Given the description of an element on the screen output the (x, y) to click on. 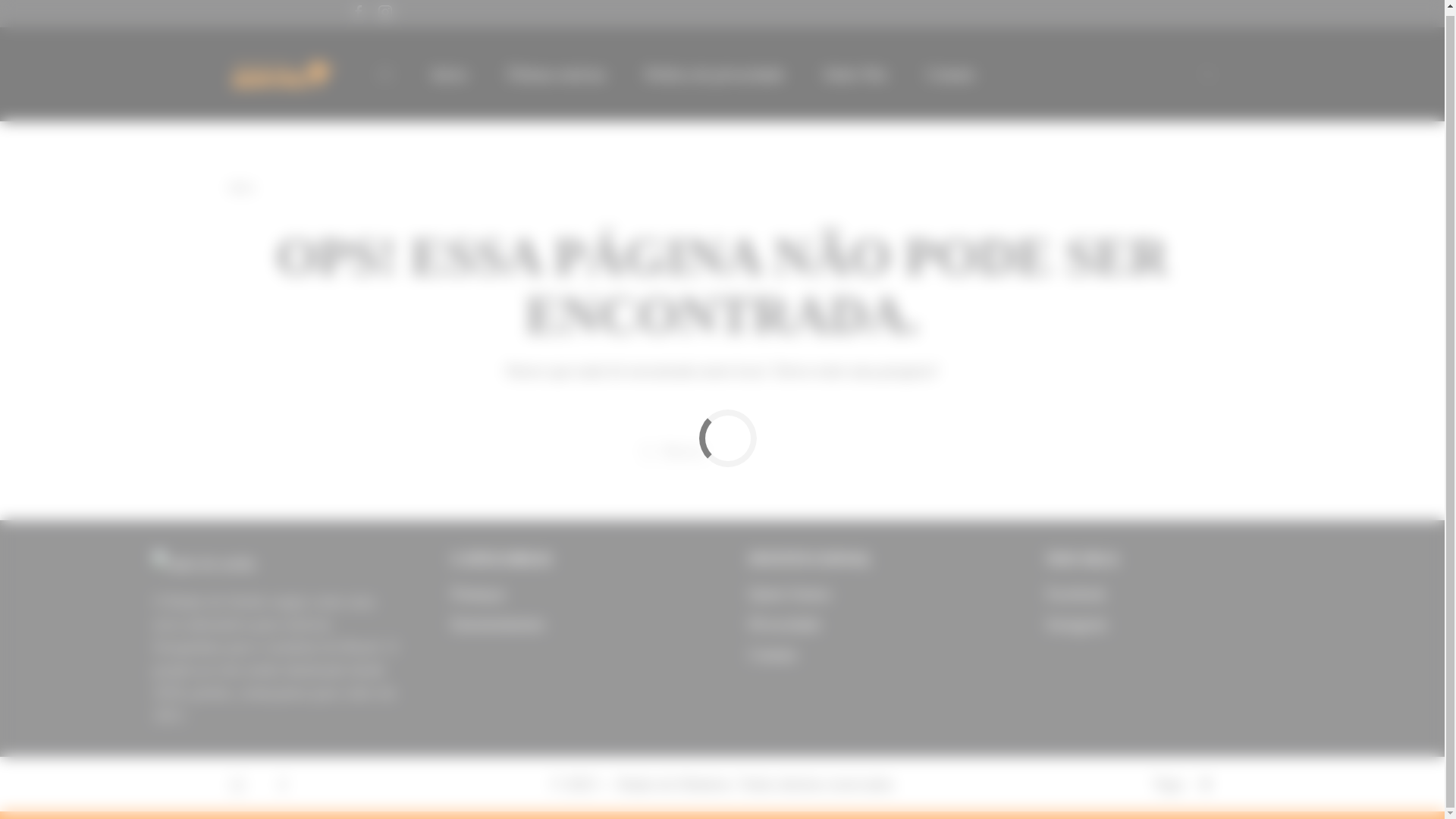
Entretenimento (497, 623)
Privacidade (871, 623)
Back to Top (1204, 785)
Instagram (1168, 623)
Facebook (1168, 593)
Quem Somos (871, 593)
Contato (871, 653)
Contato (950, 74)
